Given the description of an element on the screen output the (x, y) to click on. 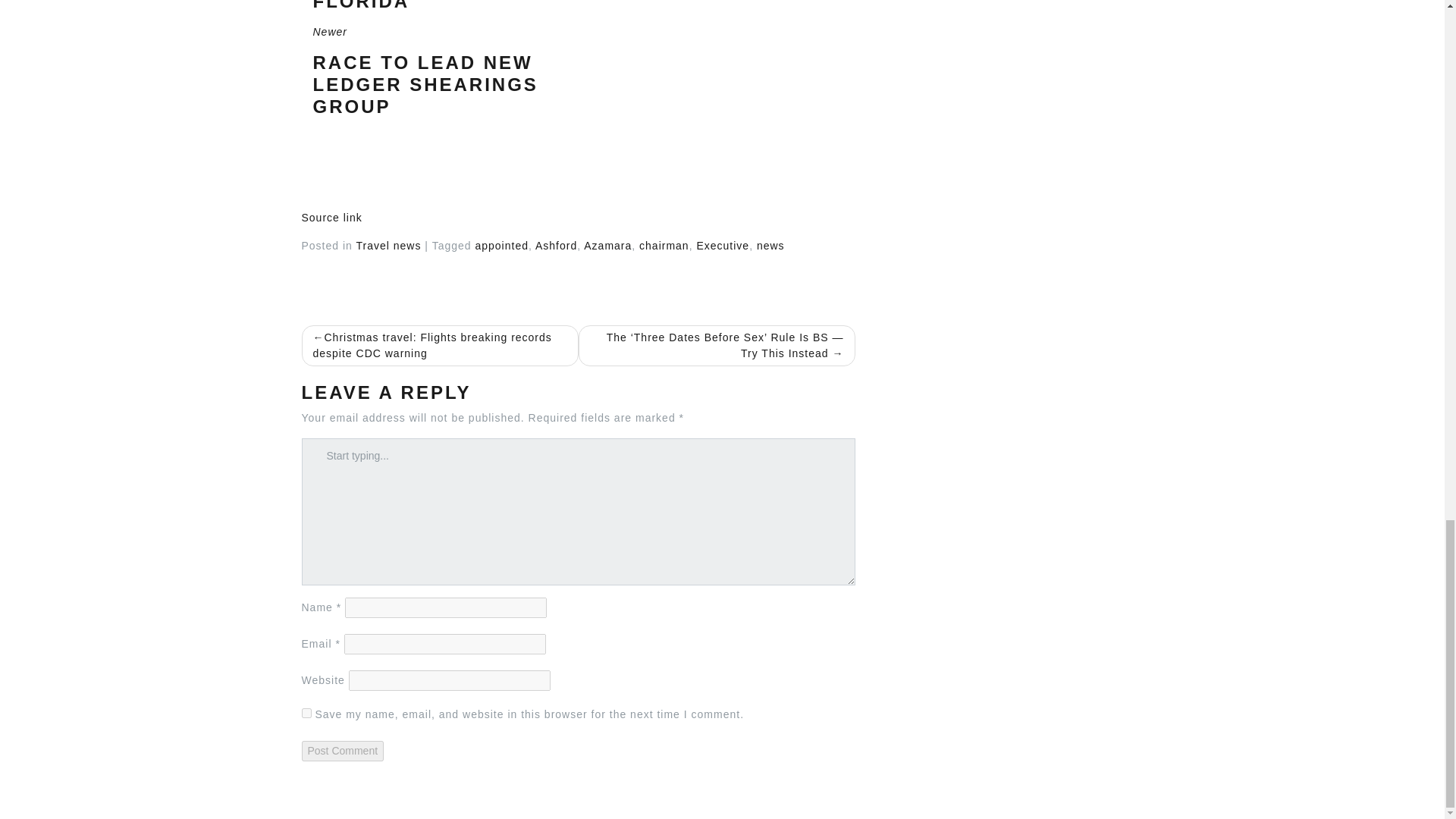
Azamara (607, 245)
Travel news (389, 245)
Executive (722, 245)
yes (306, 713)
Post Comment (439, 71)
Source link (342, 751)
Ashford (331, 217)
appointed (555, 245)
news (501, 245)
chairman (770, 245)
